Given the description of an element on the screen output the (x, y) to click on. 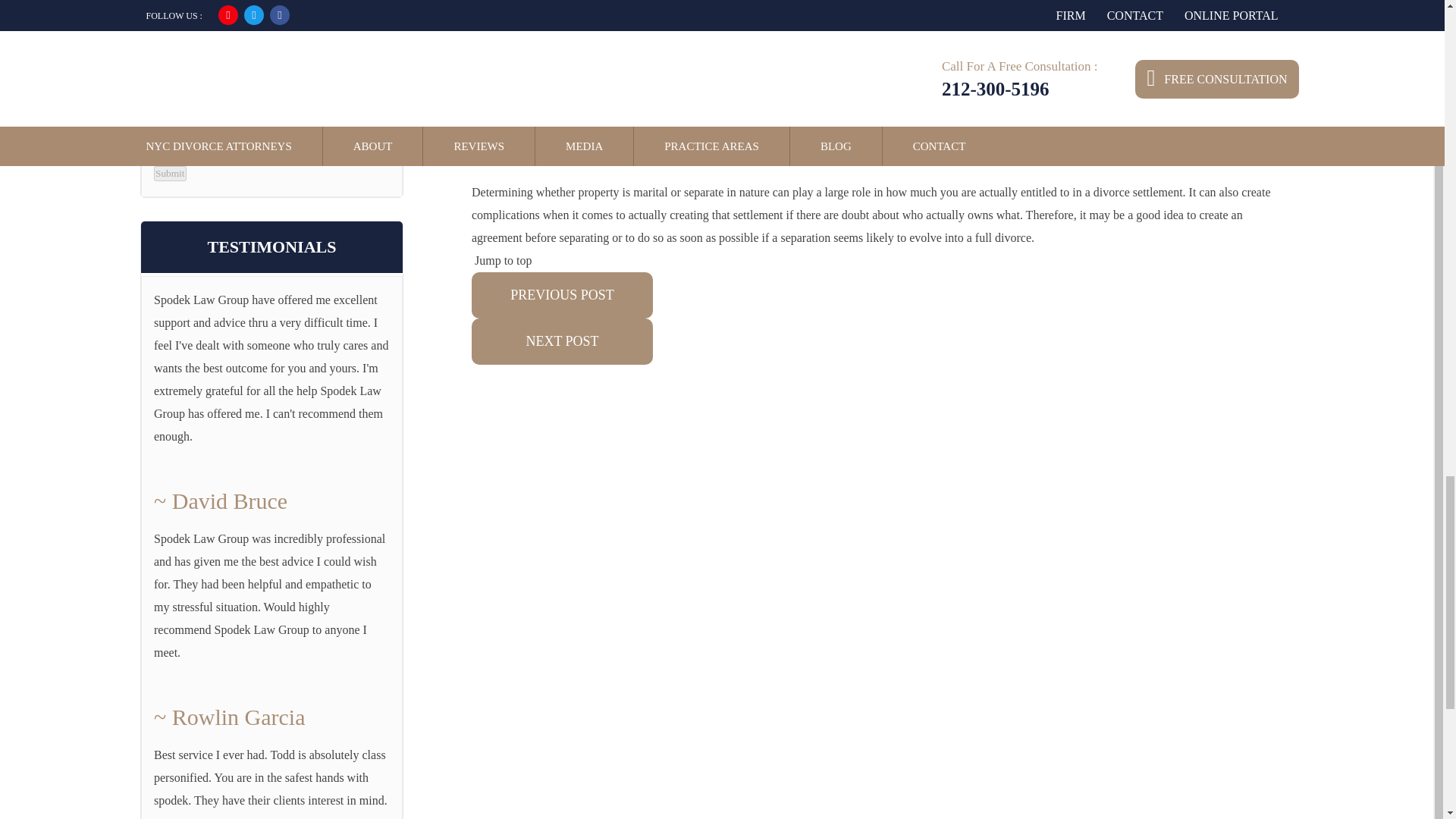
Submit (170, 173)
